Given the description of an element on the screen output the (x, y) to click on. 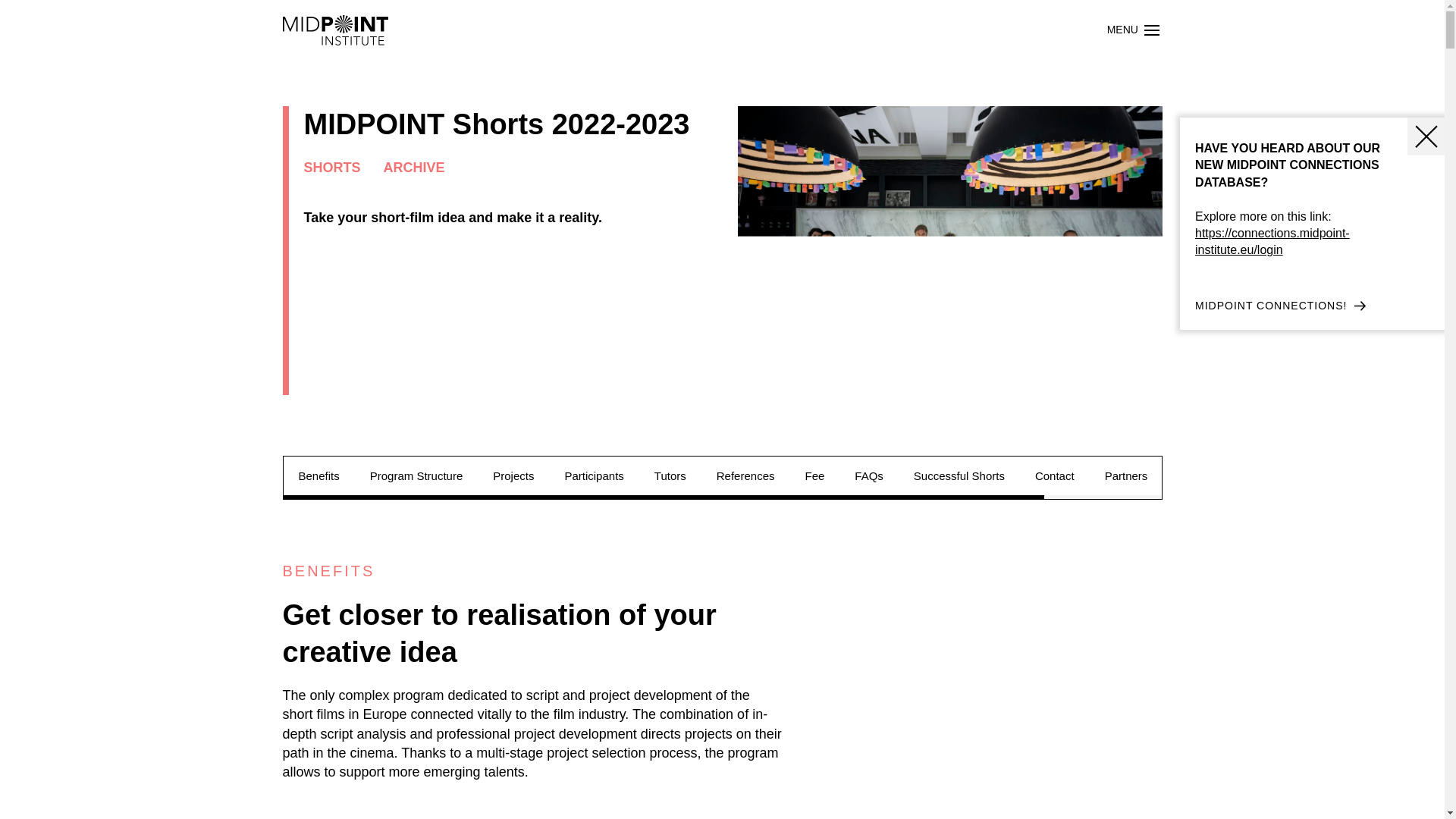
Participants (593, 475)
Contact (1054, 475)
Fee (814, 475)
References (745, 475)
Tutors (670, 475)
Projects (512, 475)
Benefits (319, 475)
Gallery (1194, 475)
Program Structure (417, 475)
Archive (1262, 475)
